Given the description of an element on the screen output the (x, y) to click on. 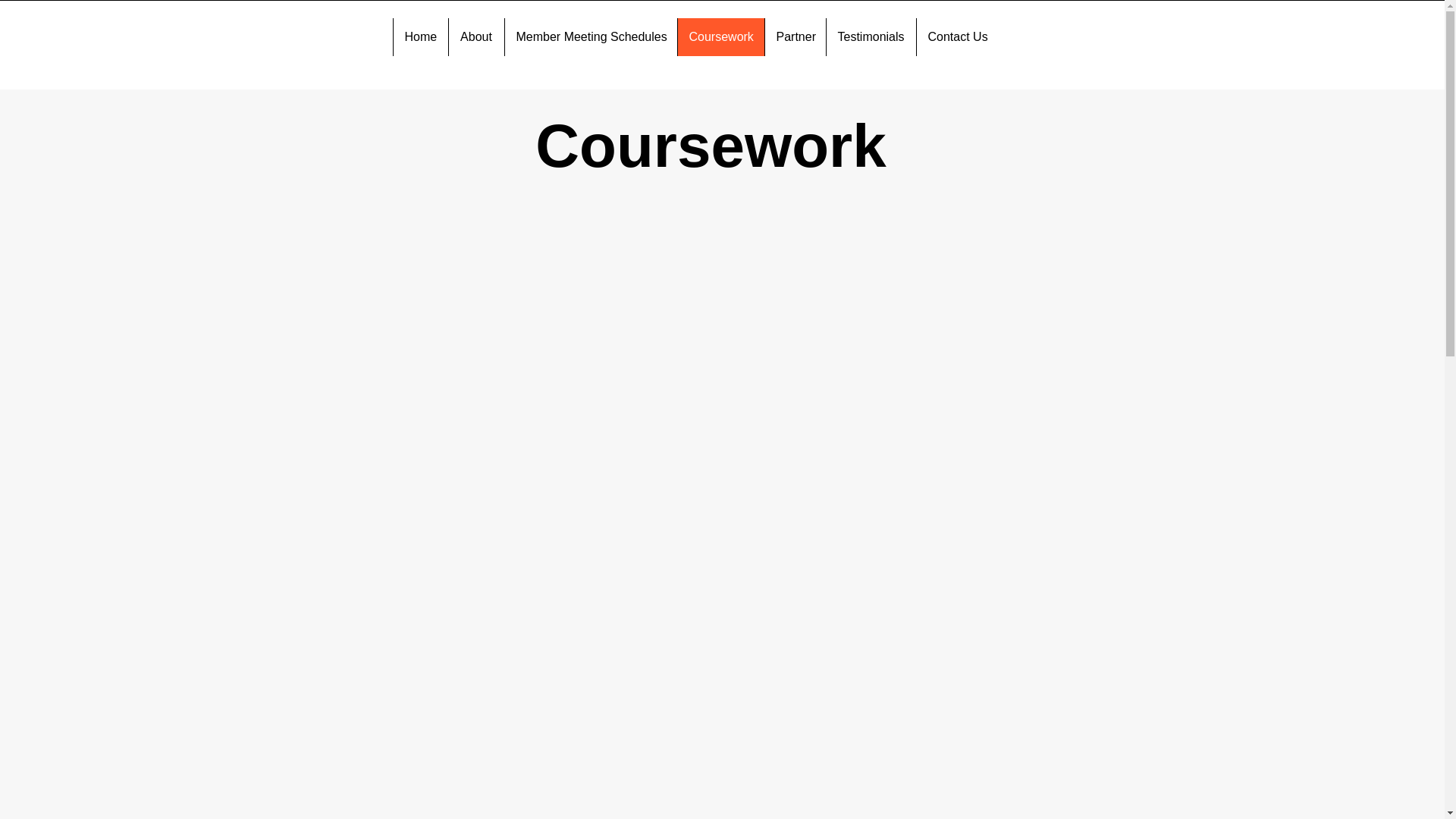
Home (420, 37)
Coursework (719, 37)
About (474, 37)
Member Meeting Schedules (590, 37)
Testimonials (870, 37)
Partner (794, 37)
Contact Us (956, 37)
